Given the description of an element on the screen output the (x, y) to click on. 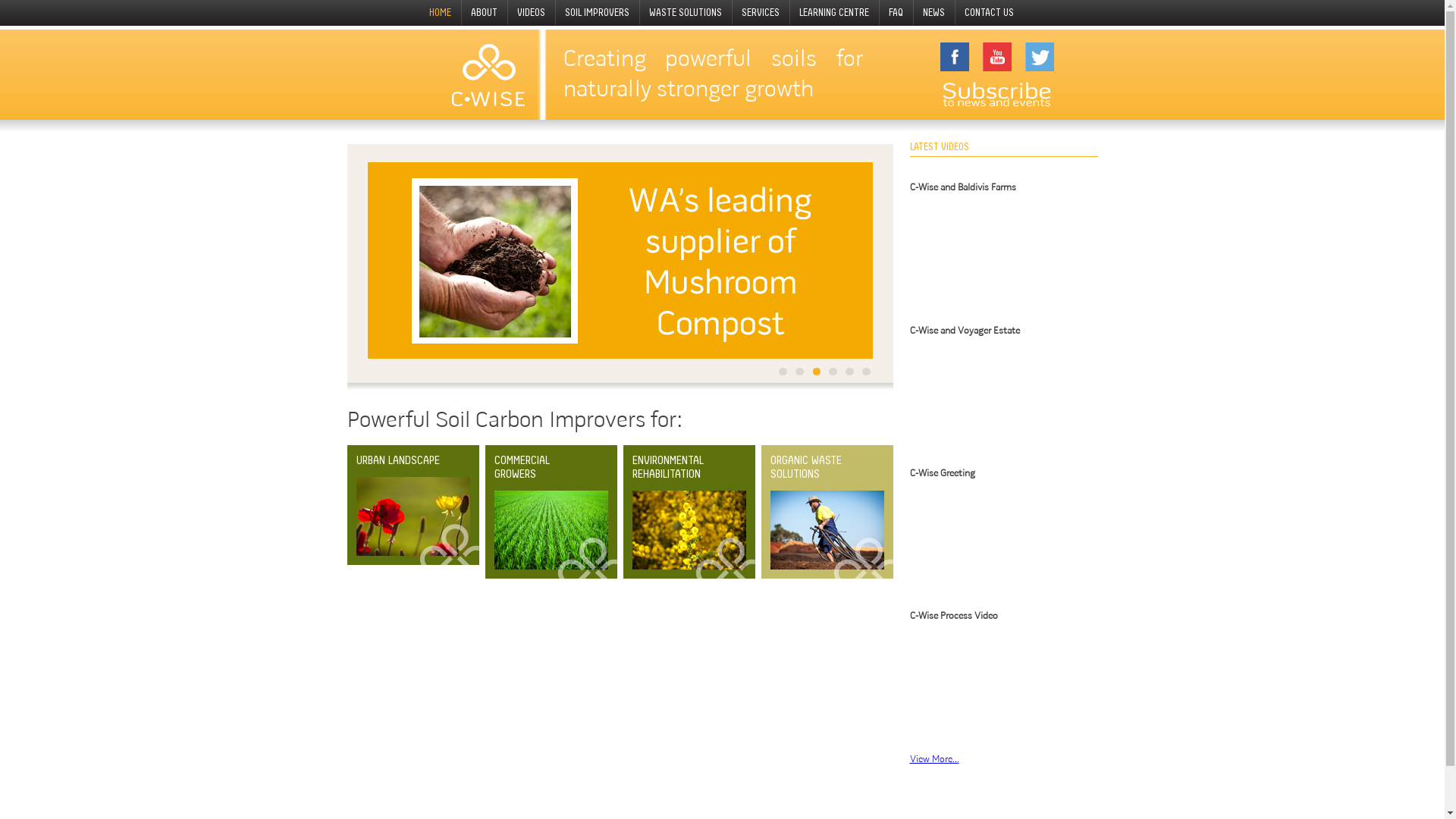
HOME Element type: text (440, 12)
SERVICES Element type: text (761, 12)
Youtube Element type: text (996, 56)
C-Wise Element type: text (487, 74)
NEWS Element type: text (934, 12)
View More... Element type: text (934, 759)
VIDEOS Element type: text (531, 12)
LEARNING CENTRE Element type: text (834, 12)
WASTE SOLUTIONS Element type: text (686, 12)
Twitter Element type: text (1039, 56)
CONTACT US Element type: text (989, 12)
FAQ Element type: text (896, 12)
SOIL IMPROVERS Element type: text (597, 12)
Facebook Element type: text (954, 56)
ABOUT Element type: text (484, 12)
